Given the description of an element on the screen output the (x, y) to click on. 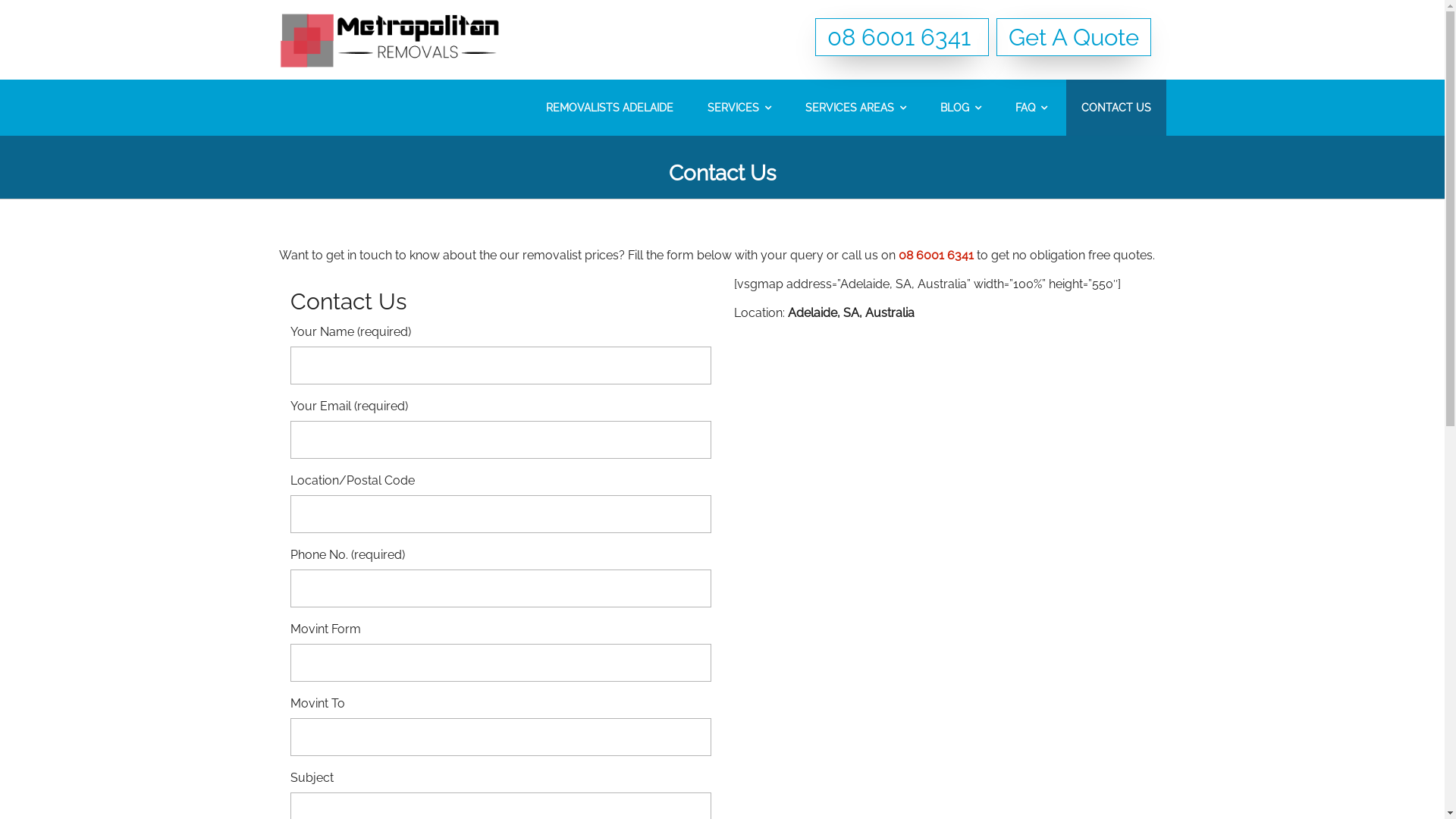
Get A Quote Element type: text (1073, 37)
08 6001 6341 Element type: text (934, 254)
SERVICES AREAS Element type: text (855, 107)
CONTACT US Element type: text (1116, 107)
08 6001 6341 Element type: text (901, 37)
REMOVALISTS ADELAIDE Element type: text (609, 107)
BLOG Element type: text (960, 107)
SERVICES Element type: text (738, 107)
FAQ Element type: text (1030, 107)
